Given the description of an element on the screen output the (x, y) to click on. 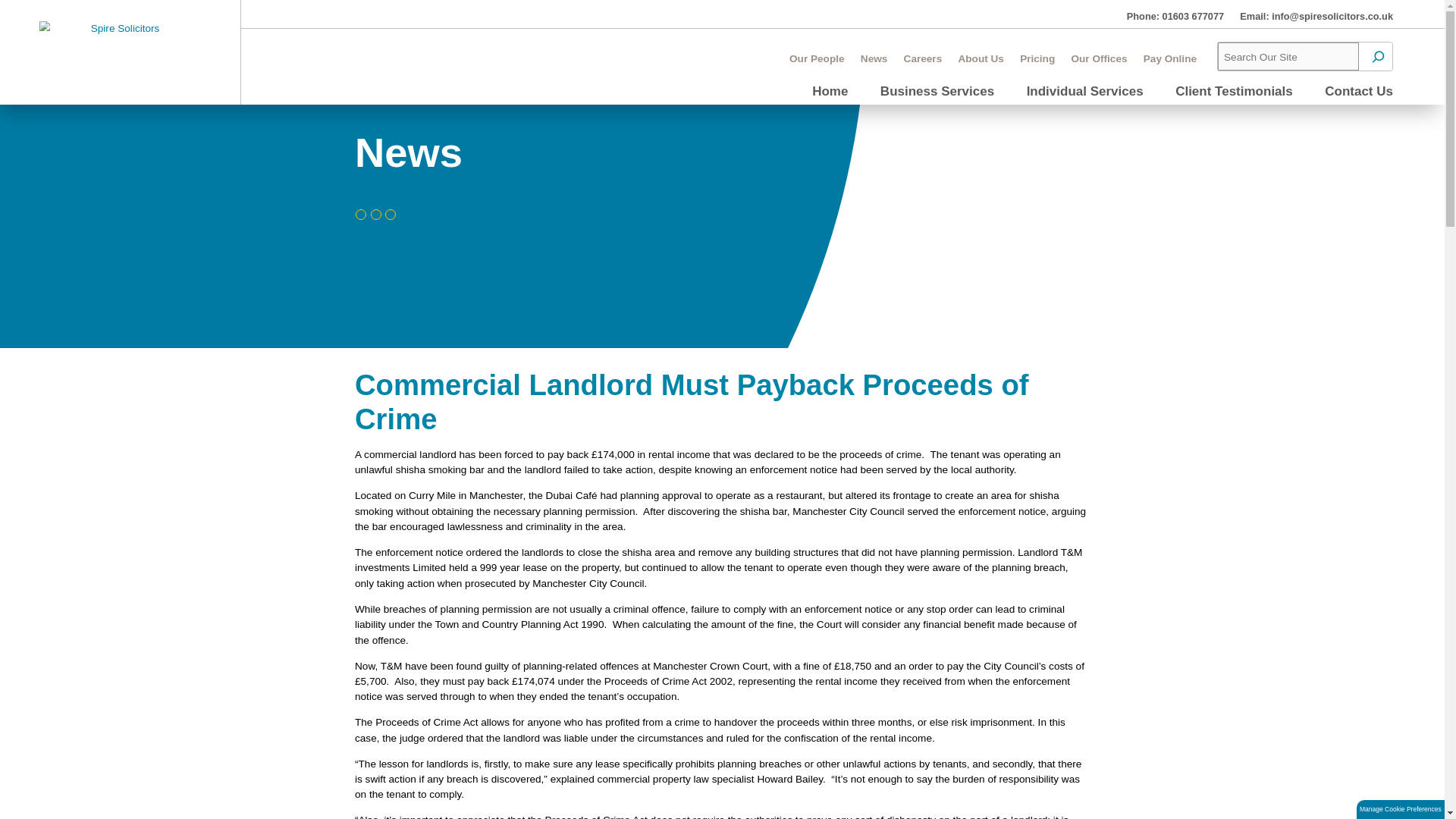
Home (976, 109)
Pay Online (1376, 70)
Business Services (1102, 109)
Our People (960, 70)
Our Offices (1293, 70)
Careers (1085, 70)
About Us (1153, 70)
Individual Services (1275, 109)
Pricing (1220, 70)
News (1027, 70)
Phone: 01603 677077 (1381, 18)
